Given the description of an element on the screen output the (x, y) to click on. 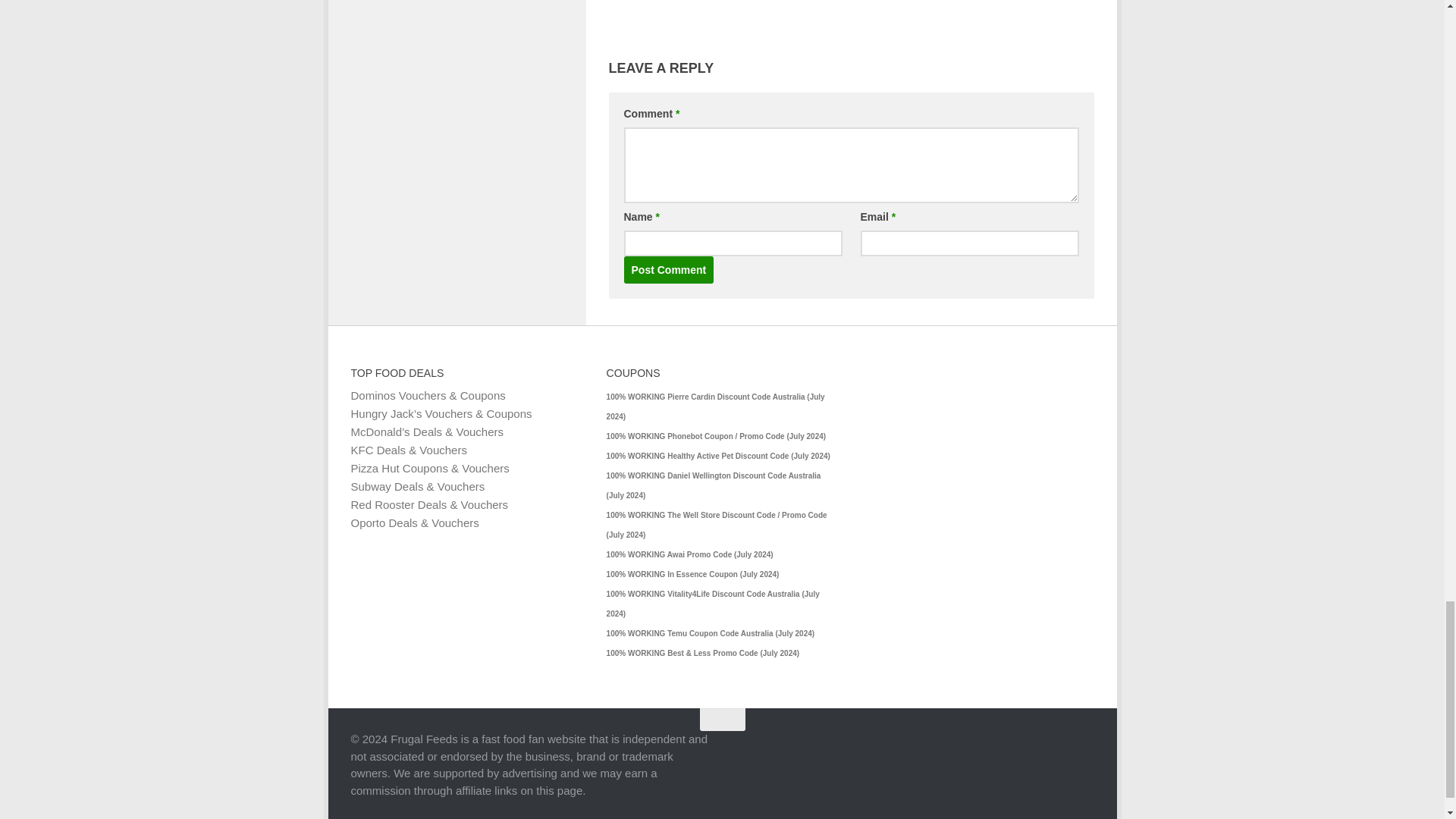
Post Comment (668, 269)
